Given the description of an element on the screen output the (x, y) to click on. 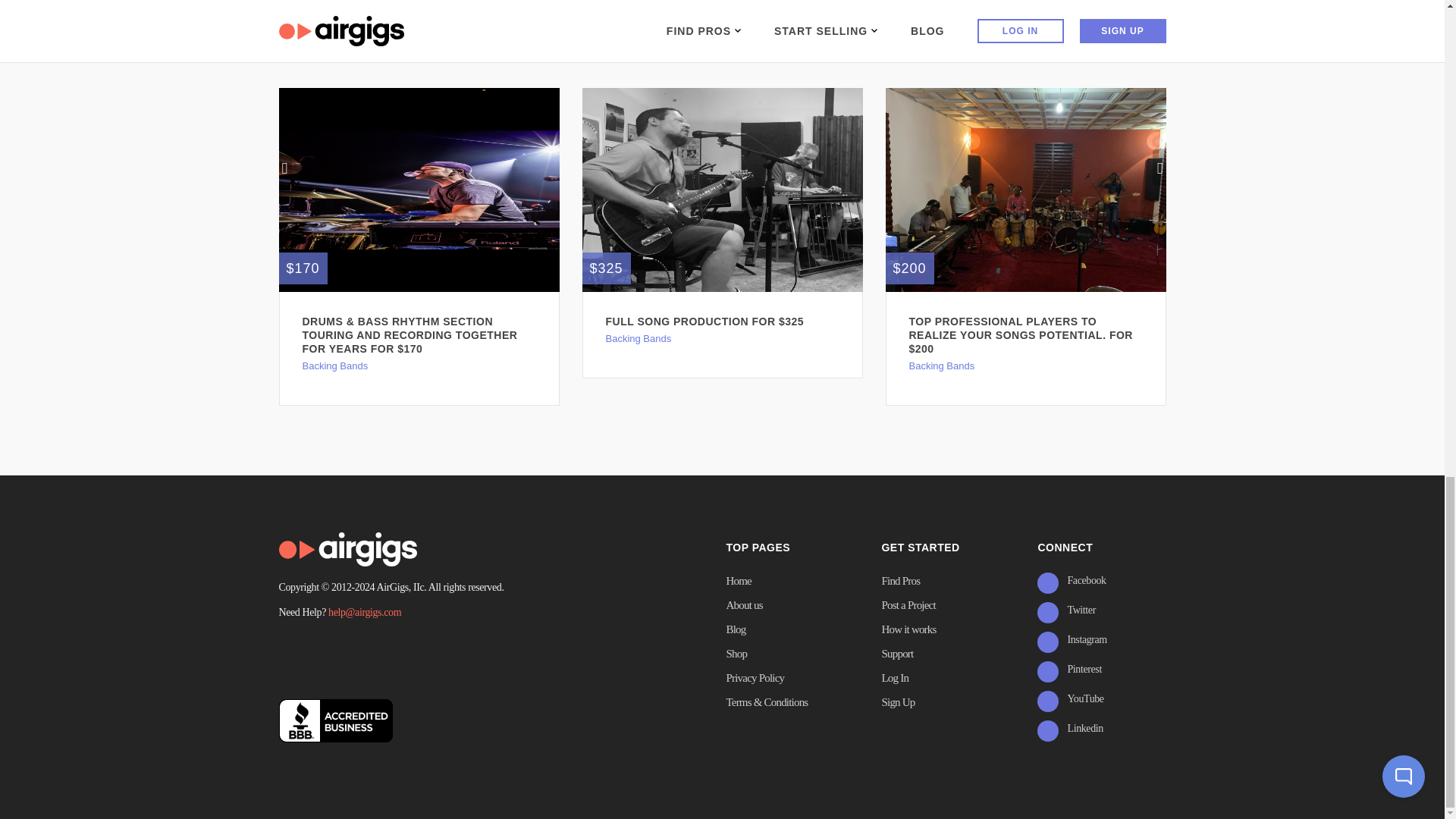
AirGigs is a BBB Accredited Musician in Melbourne, FL (336, 720)
